Given the description of an element on the screen output the (x, y) to click on. 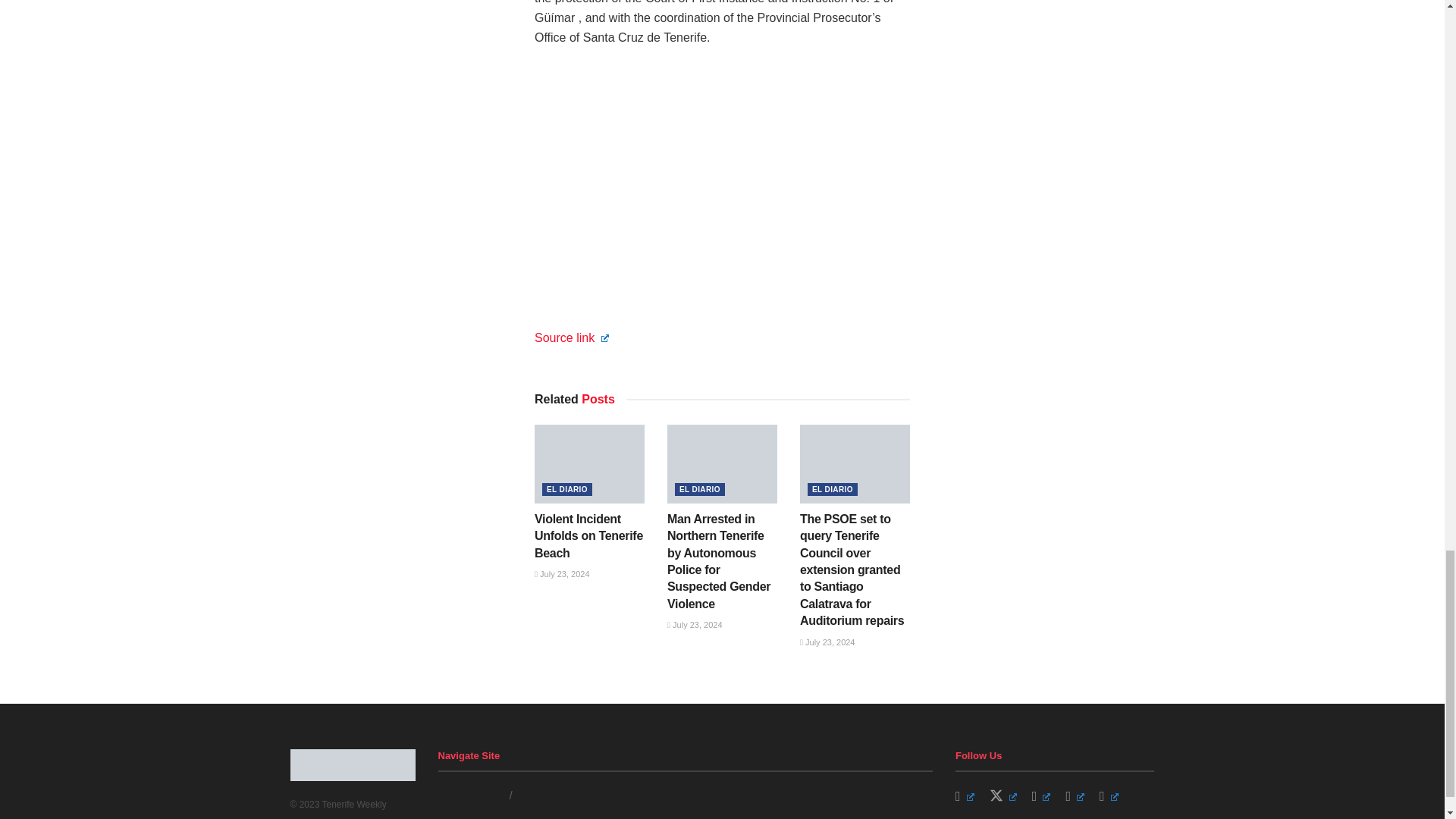
EL DIARIO (566, 489)
Source link (571, 337)
